Given the description of an element on the screen output the (x, y) to click on. 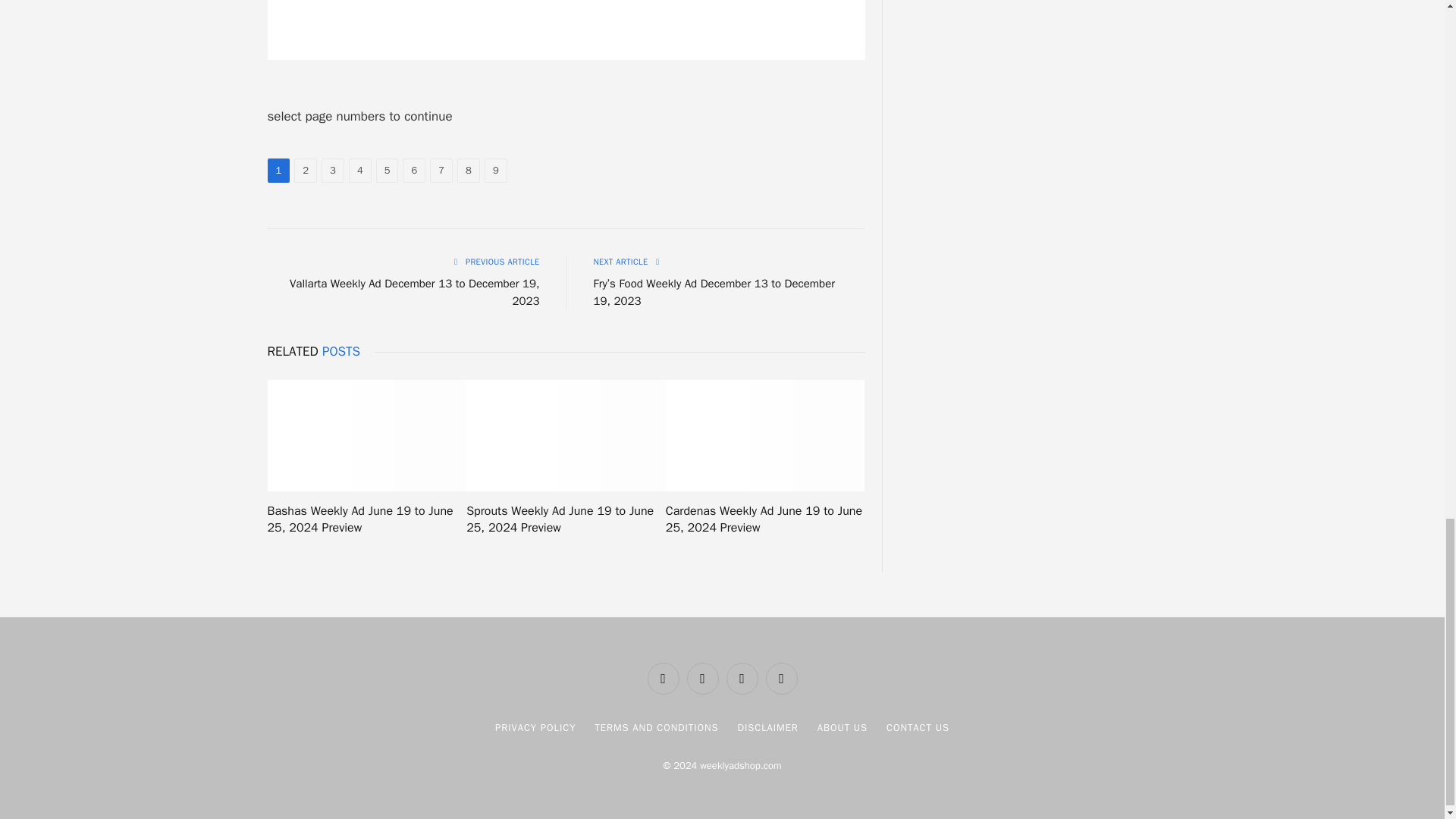
winn dixie weekly dec 13 19 1 (565, 29)
Sprouts Weekly Ad June 19 to June 25, 2024 Preview (565, 436)
Cardenas Weekly Ad June 19 to June 25, 2024 Preview (764, 436)
Bashas Weekly Ad June 19 to June 25, 2024 Preview (365, 436)
